Given the description of an element on the screen output the (x, y) to click on. 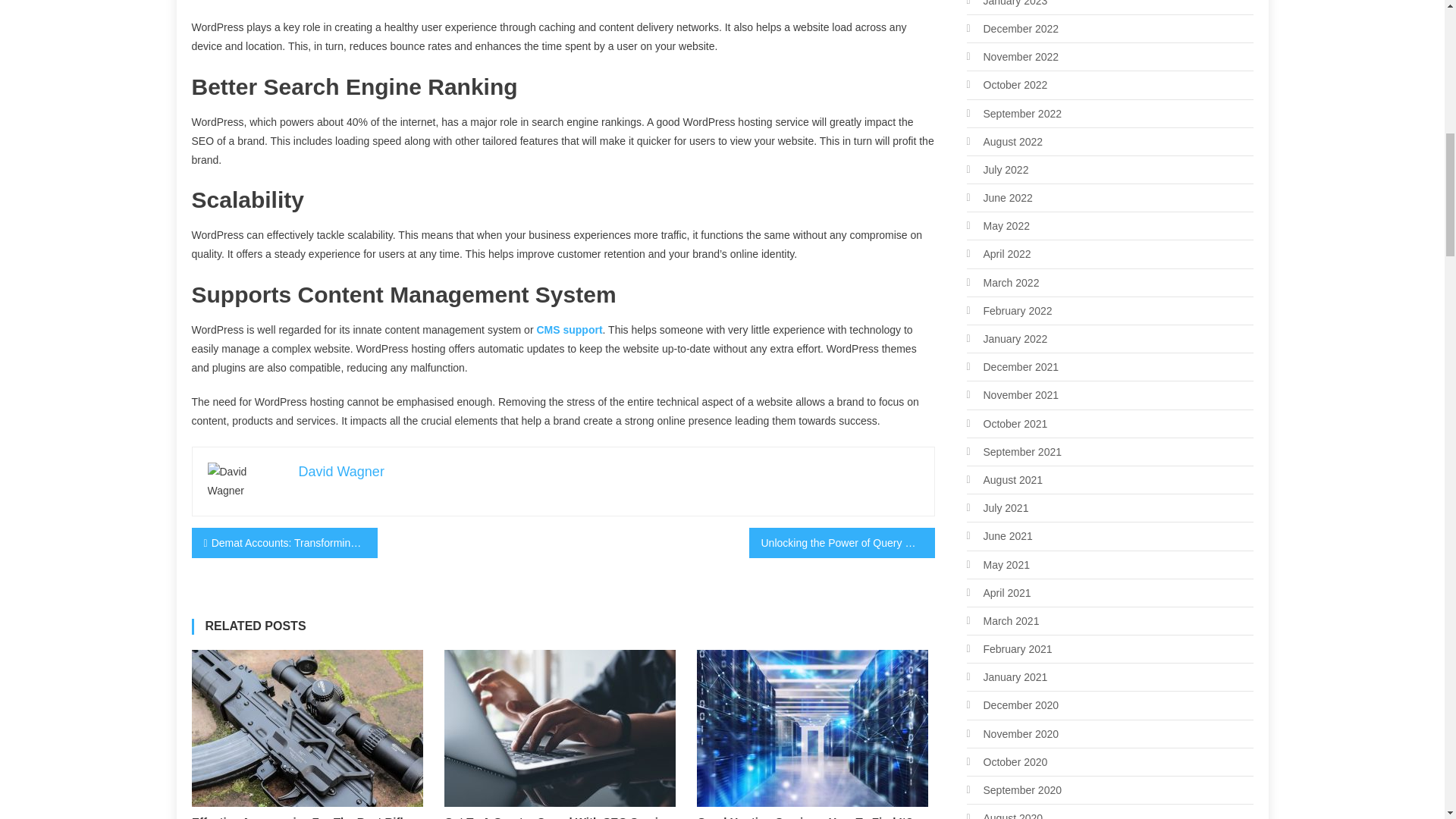
David Wagner (341, 471)
Demat Accounts: Transforming the Share Market Landscape (283, 542)
Effective Accessories For The Best Rifles (310, 816)
CMS support (568, 329)
Get To A Greater Crowd With SEO Services (562, 816)
